Given the description of an element on the screen output the (x, y) to click on. 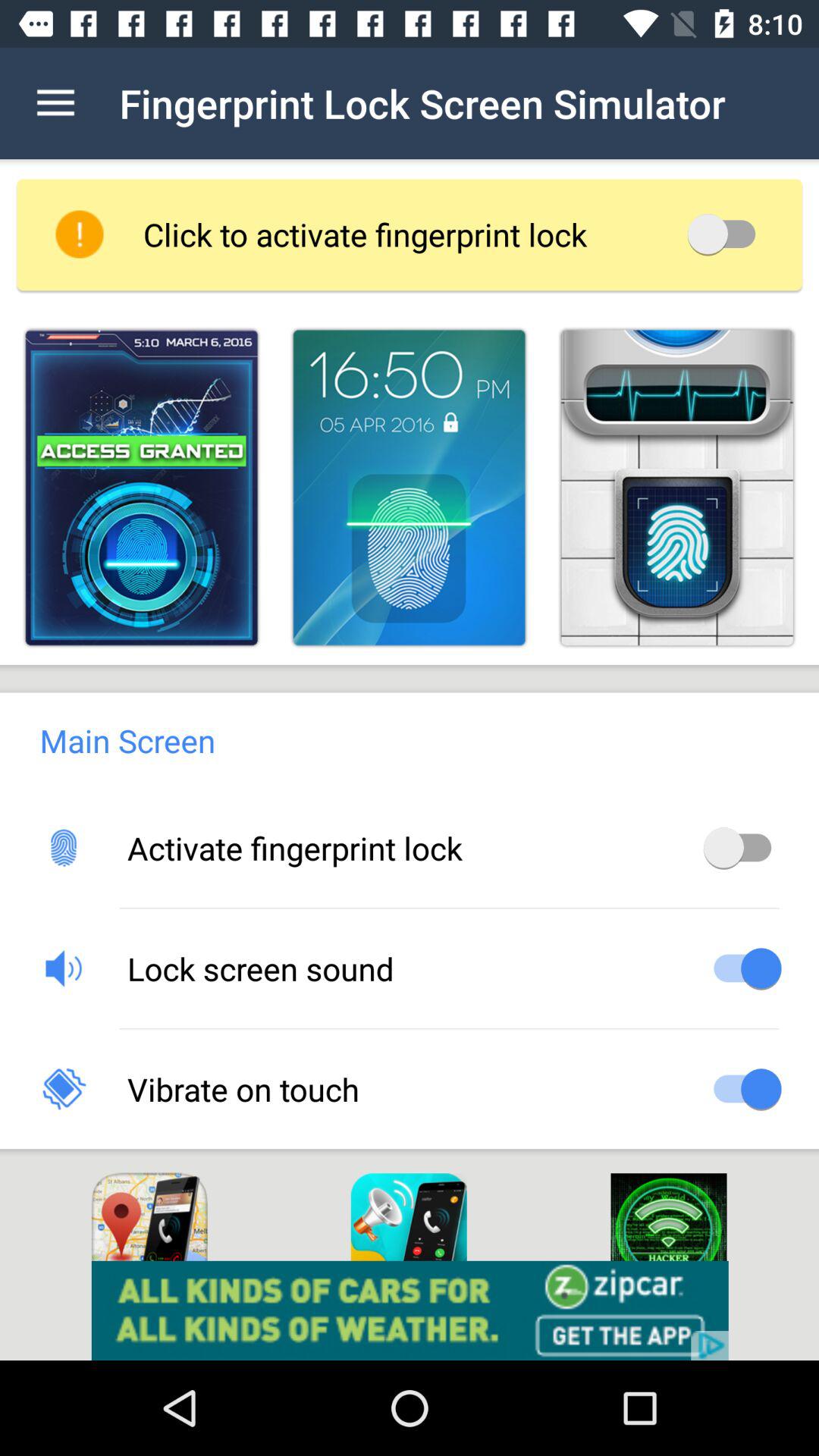
on off button (742, 968)
